Given the description of an element on the screen output the (x, y) to click on. 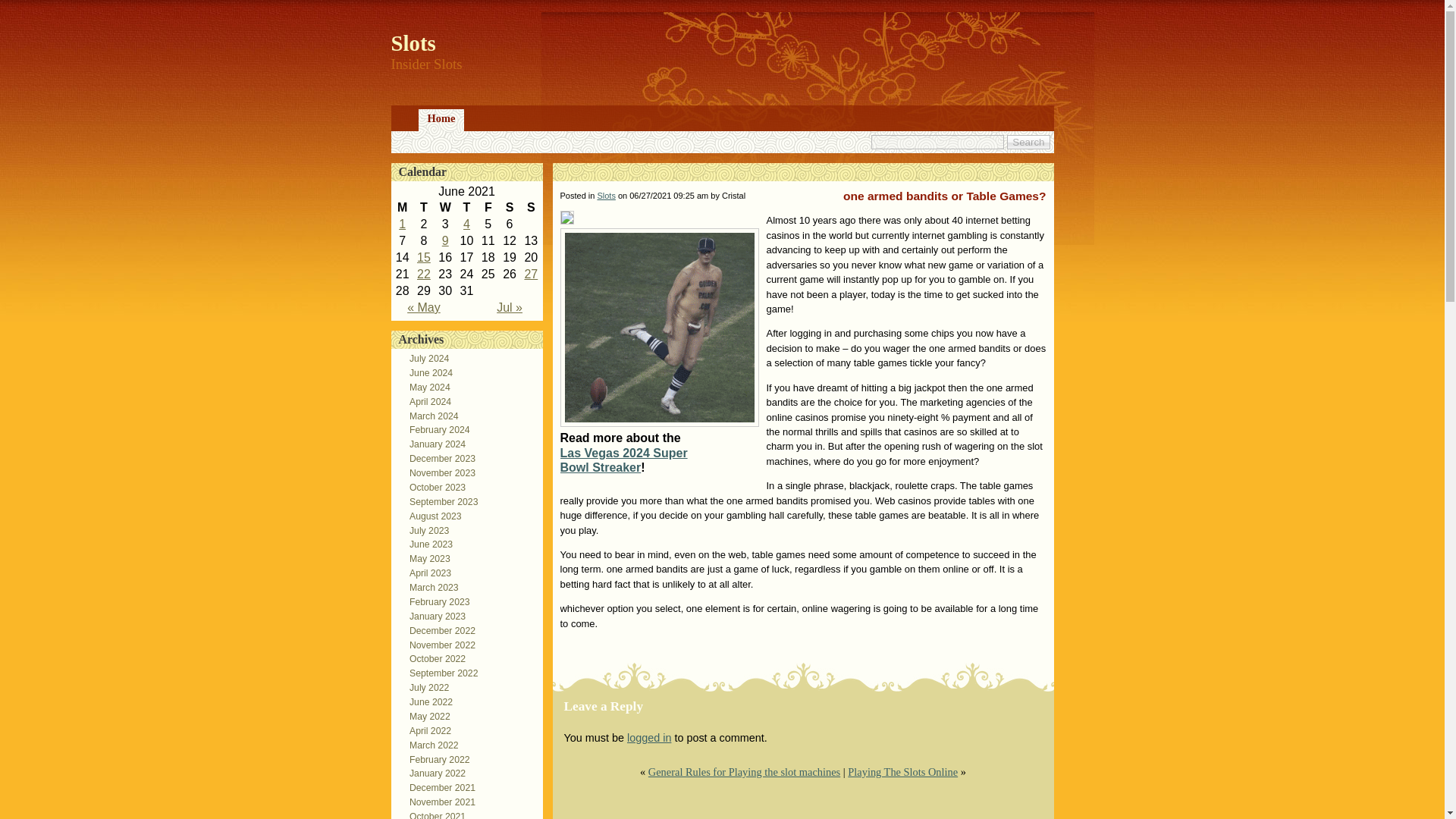
November 2022 (438, 644)
July 2022 (424, 687)
July 2024 (424, 357)
Search (1028, 142)
View posts for May 2021 (424, 307)
View posts for July 2021 (509, 307)
December 2022 (438, 630)
March 2023 (429, 587)
22 (423, 273)
June 2023 (426, 543)
Wednesday (444, 207)
September 2023 (439, 501)
May 2024 (424, 387)
15 (423, 256)
